Given the description of an element on the screen output the (x, y) to click on. 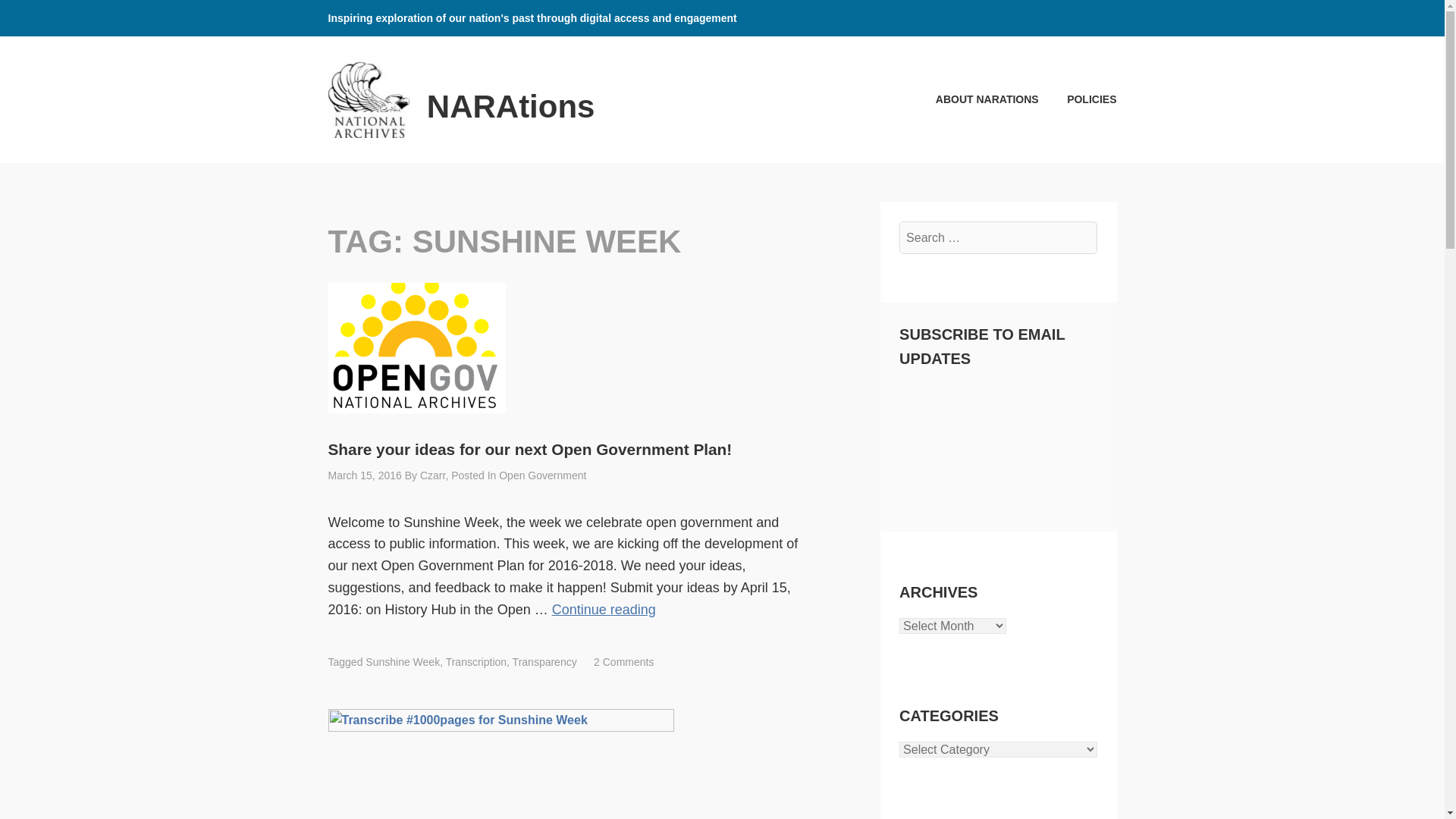
Share your ideas for our next Open Government Plan! (529, 448)
Share your ideas for our next Open Government Plan! (416, 347)
2 Comments (623, 662)
Sunshine Week (402, 662)
Form 0 (998, 442)
Czarr (432, 475)
Transcription (475, 662)
NARAtions (510, 106)
March 15, 2016 (364, 475)
Open Government (542, 475)
ABOUT NARATIONS (974, 99)
Transparency (544, 662)
POLICIES (1079, 99)
